Given the description of an element on the screen output the (x, y) to click on. 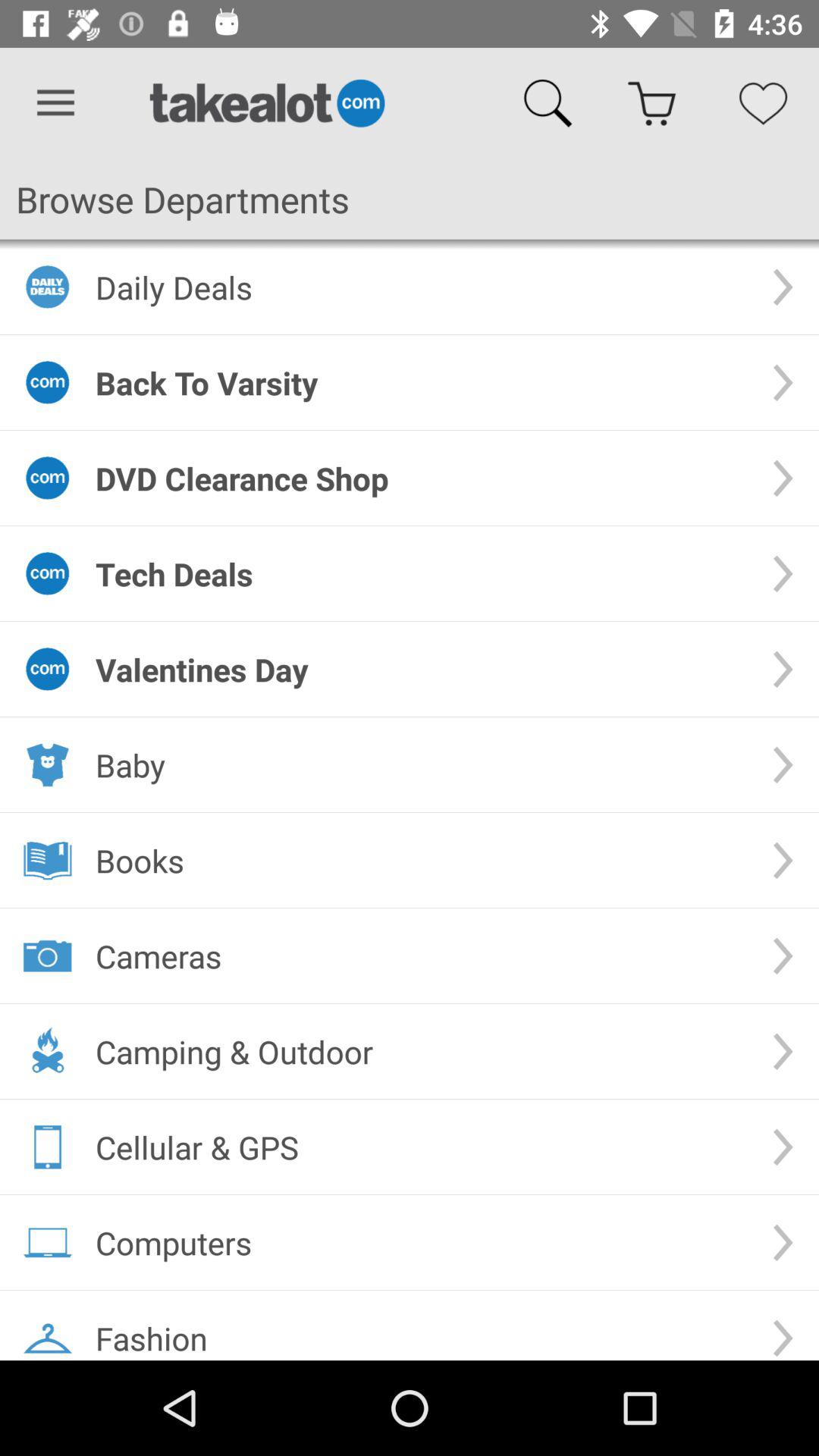
launch the item above back to varsity item (421, 286)
